Given the description of an element on the screen output the (x, y) to click on. 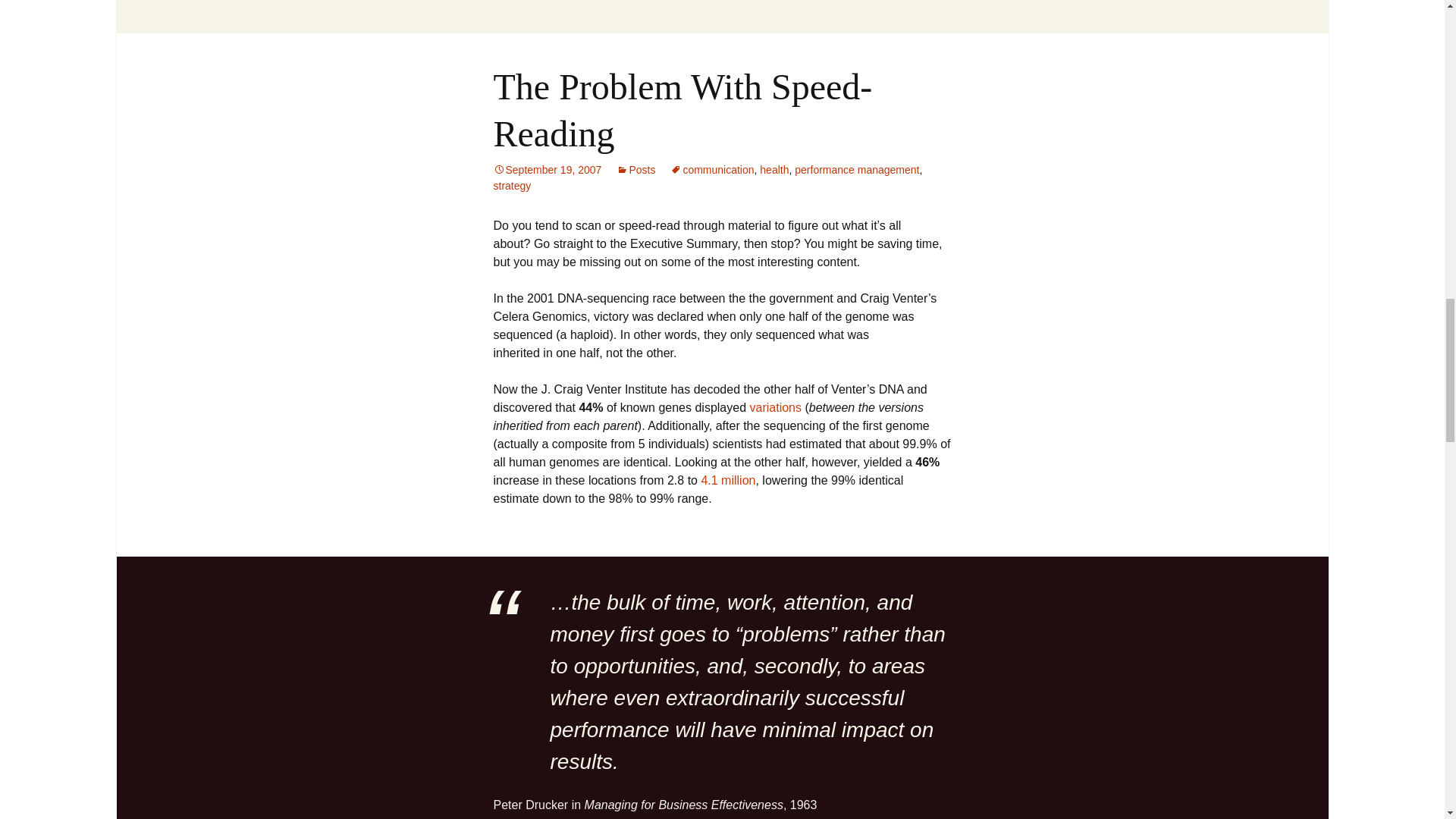
Permalink to The Problem With Speed-Reading (547, 169)
The Problem With Speed-Reading (682, 109)
communication (711, 169)
variations (774, 407)
4.1 million (727, 480)
September 19, 2007 (547, 169)
strategy (512, 185)
health (774, 169)
performance management (856, 169)
Posts (635, 169)
